Given the description of an element on the screen output the (x, y) to click on. 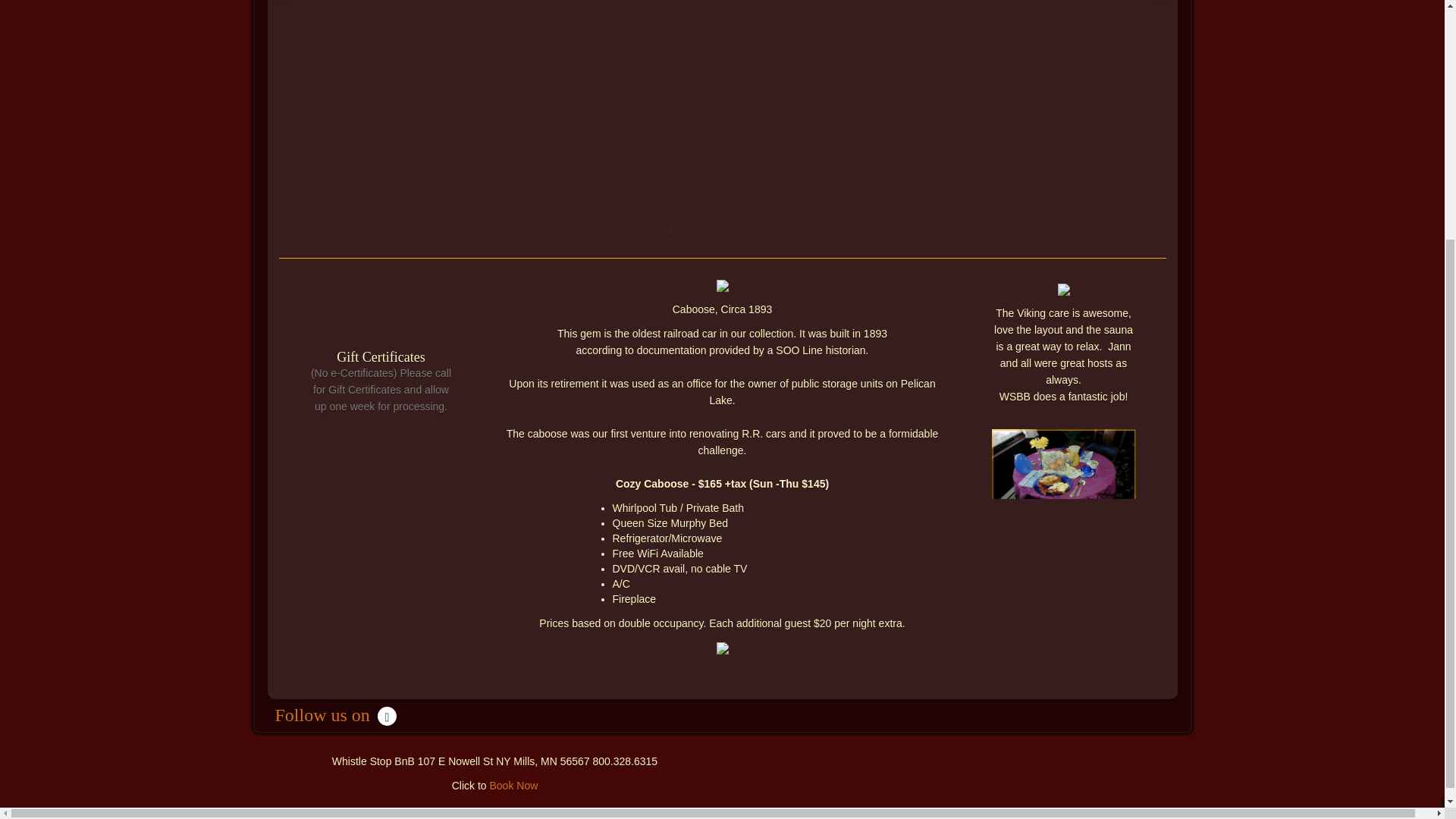
Previous (281, 4)
10 (772, 229)
7 (739, 229)
Book Now (513, 785)
Ride the Whistle Stop BnB (949, 767)
Next (1161, 4)
6 (727, 229)
3 (694, 229)
1 (671, 229)
9 (762, 229)
8 (749, 229)
2 (682, 229)
4 (704, 229)
5 (716, 229)
